Given the description of an element on the screen output the (x, y) to click on. 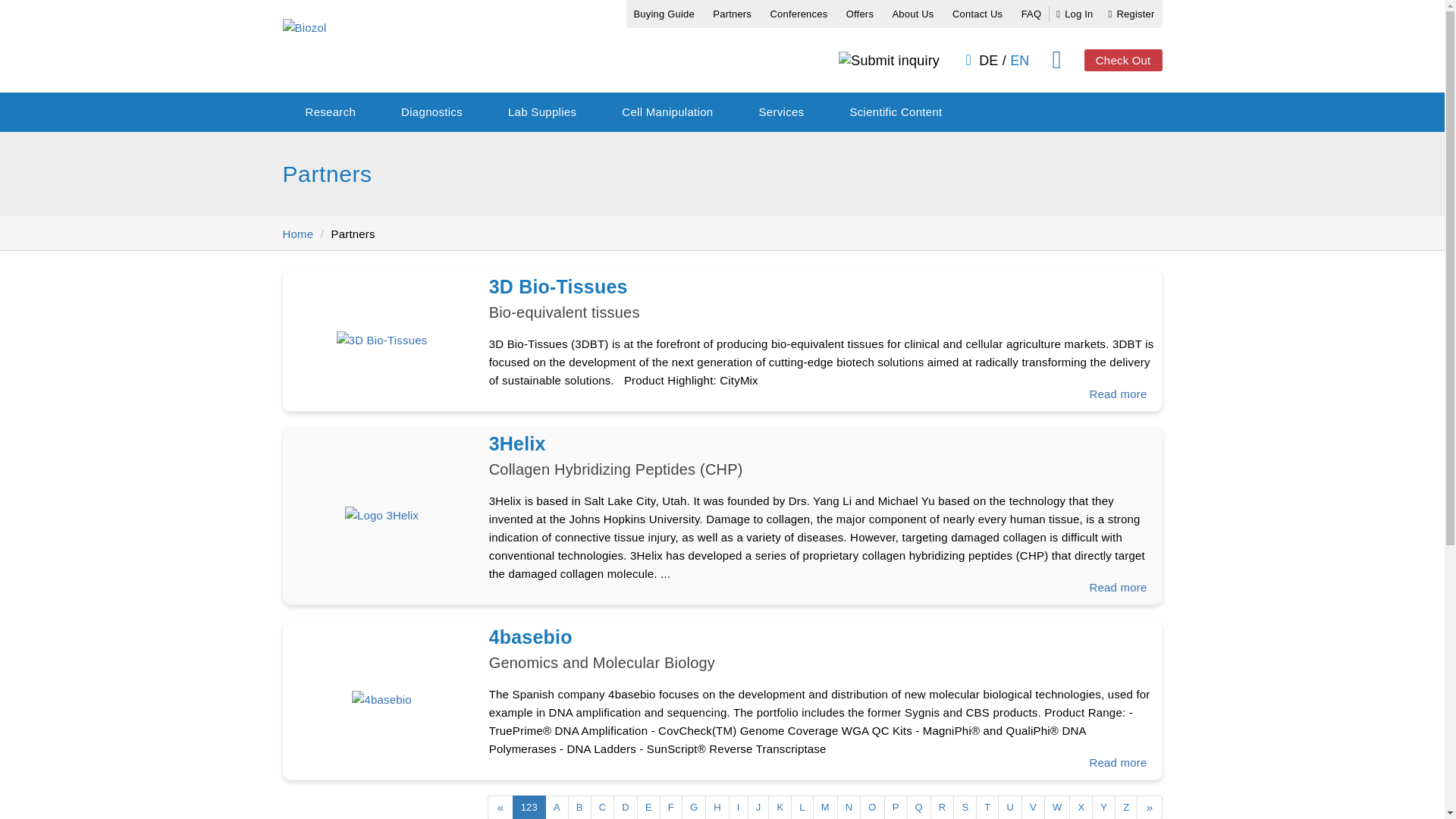
Services (781, 111)
FAQ (1032, 13)
Offers (859, 13)
Contact Us (977, 13)
Cell Manipulation (666, 111)
Buying Guide (663, 13)
EN (1019, 60)
Research (330, 111)
Home (821, 303)
